Given the description of an element on the screen output the (x, y) to click on. 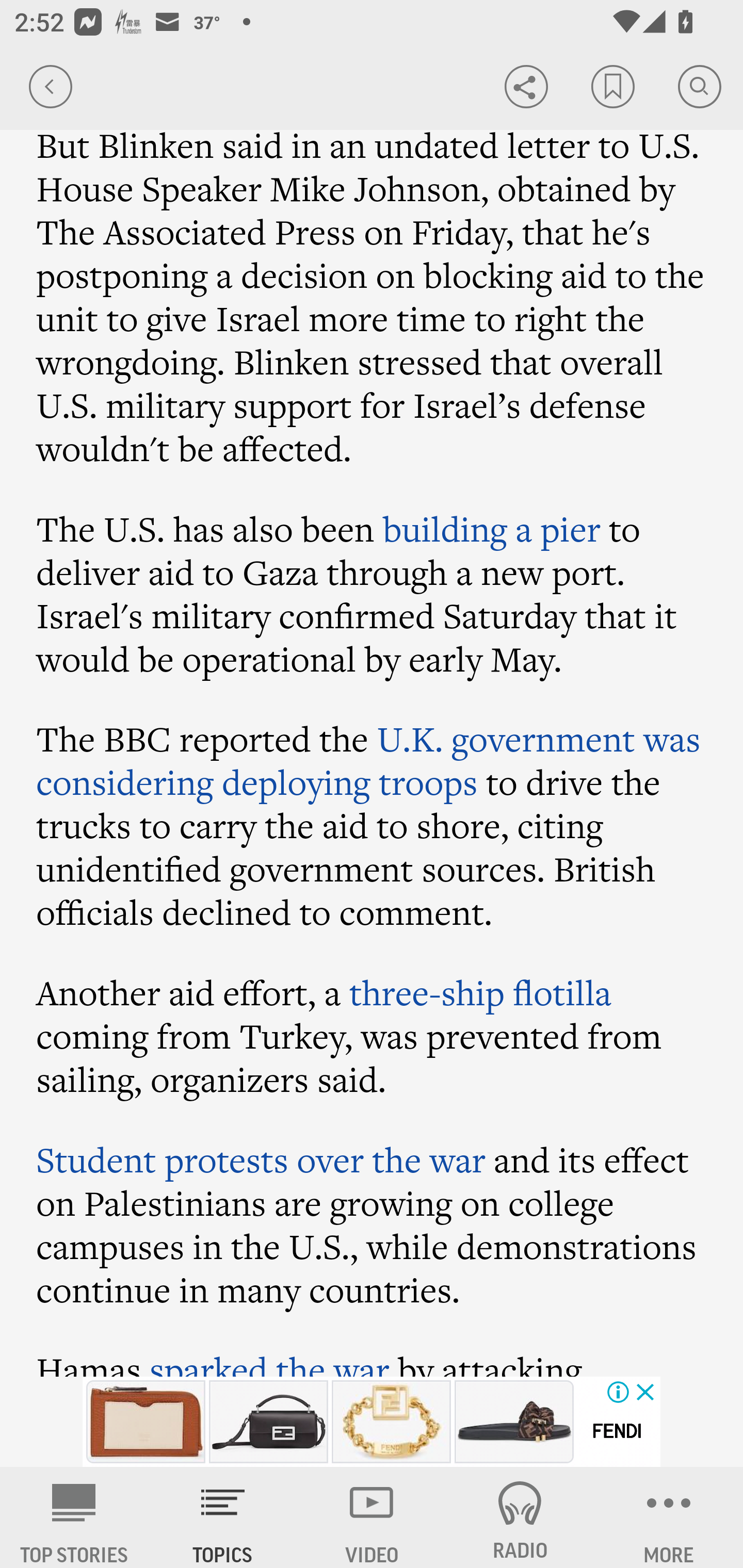
building a pier (490, 528)
U.K. government was considering deploying troops (369, 760)
three-ship flotilla (480, 992)
Student protests over the war (260, 1159)
fendi-feel-brown-satin-slides-8x8142ae7sf0r7v (513, 1420)
AP News TOP STORIES (74, 1517)
TOPICS (222, 1517)
VIDEO (371, 1517)
RADIO (519, 1517)
MORE (668, 1517)
